Given the description of an element on the screen output the (x, y) to click on. 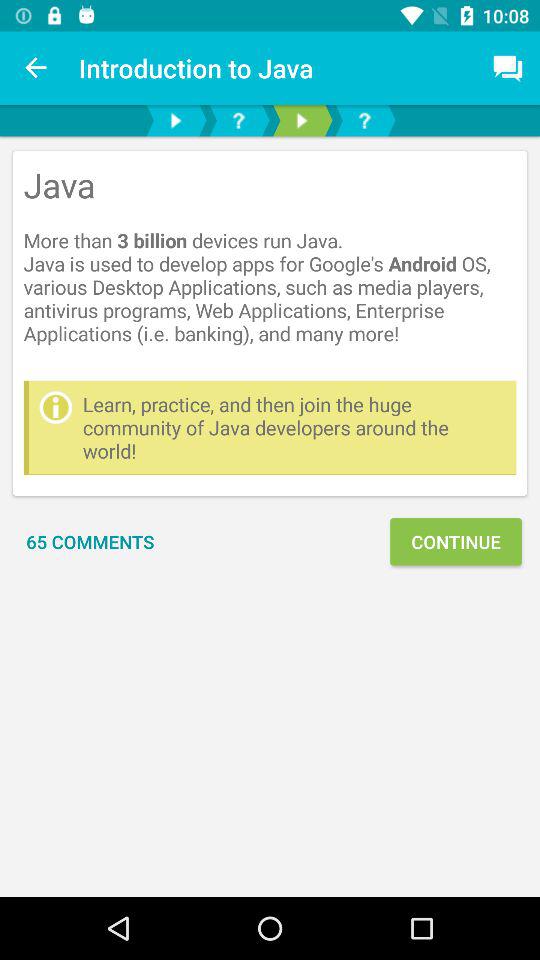
click to access next page (175, 120)
